Given the description of an element on the screen output the (x, y) to click on. 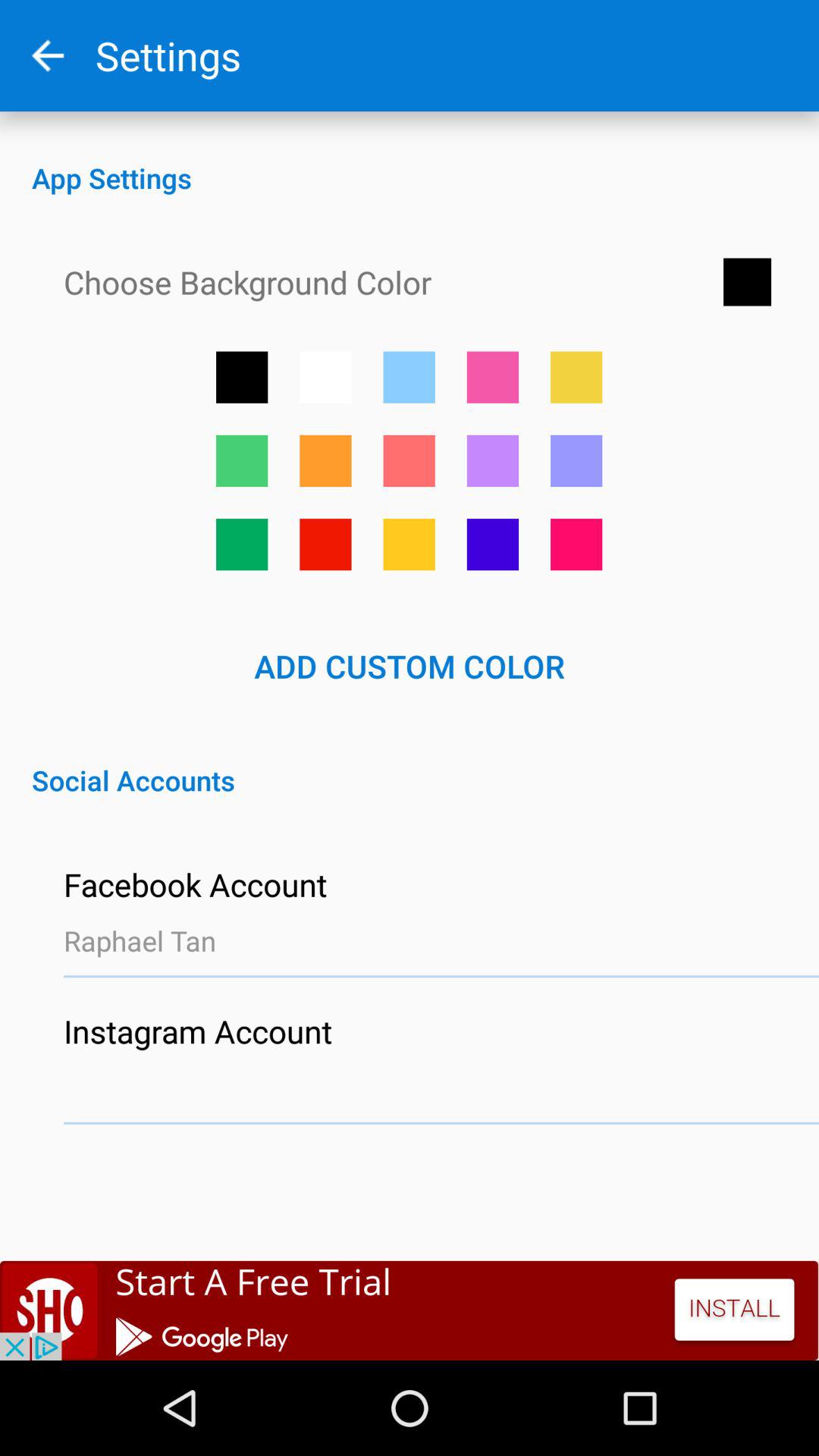
select this color (241, 544)
